Given the description of an element on the screen output the (x, y) to click on. 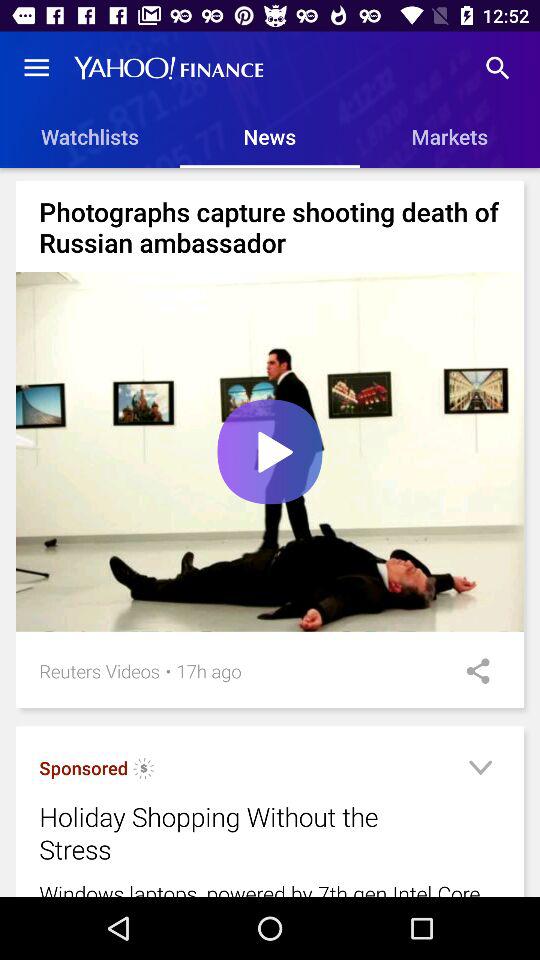
open holiday shopping without (244, 833)
